Given the description of an element on the screen output the (x, y) to click on. 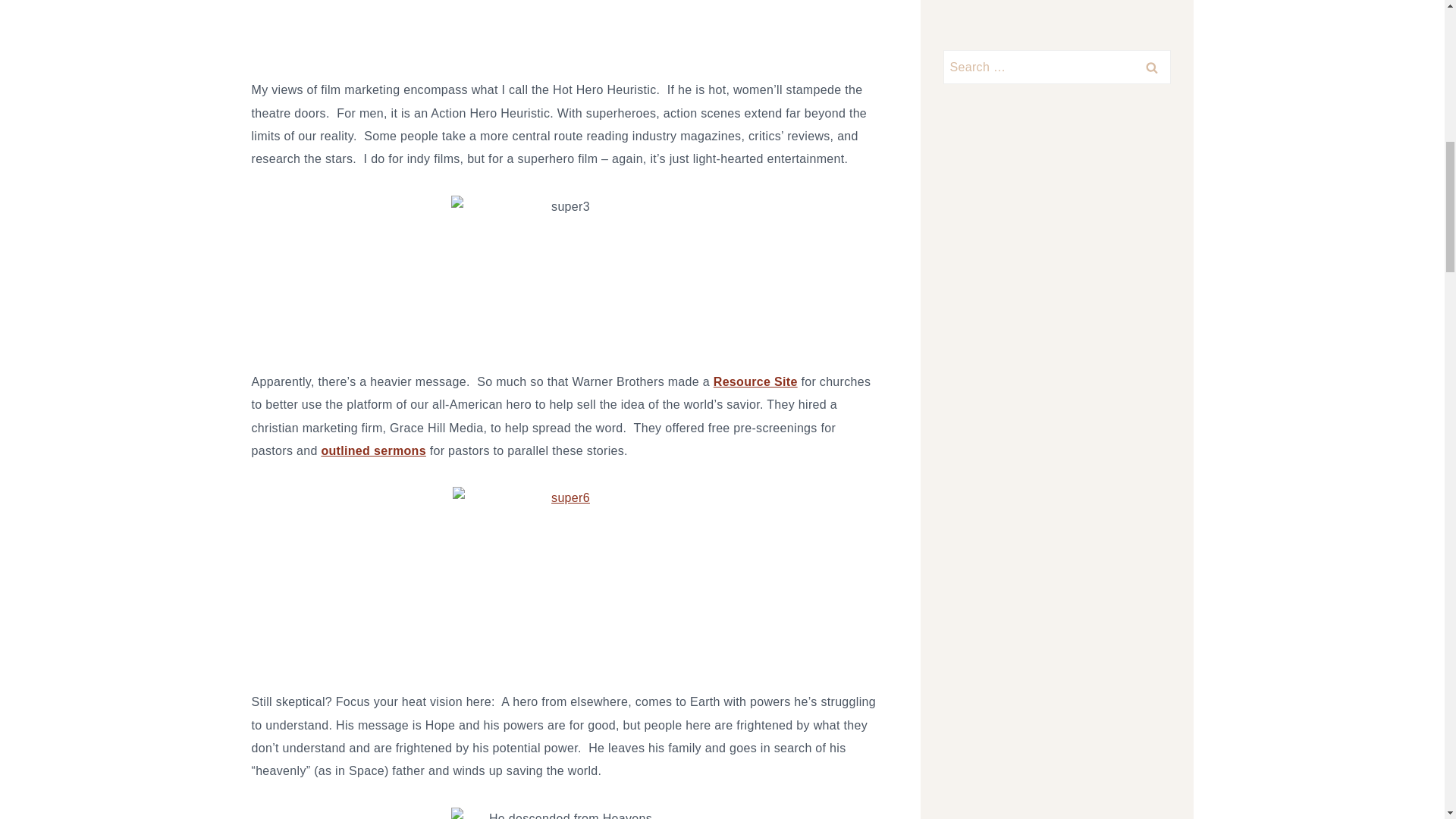
Search (1151, 66)
Search (1151, 66)
outlined sermons (372, 450)
Jesus Christ Superman! (755, 381)
Super Sermons (372, 450)
Resource Site (755, 381)
